Given the description of an element on the screen output the (x, y) to click on. 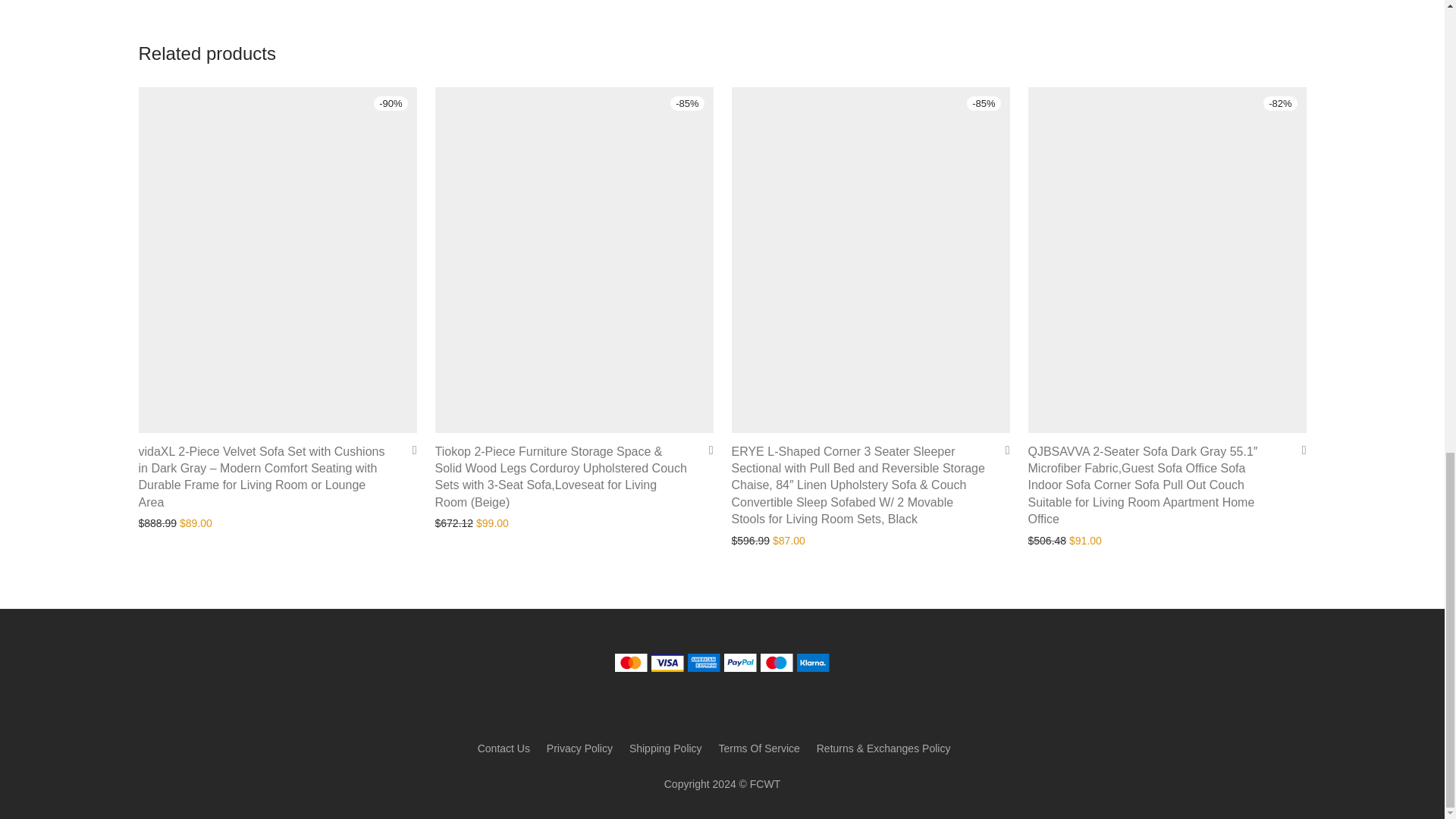
Add to Wishlist (705, 449)
Add to Wishlist (408, 449)
Add to Wishlist (1001, 449)
